Given the description of an element on the screen output the (x, y) to click on. 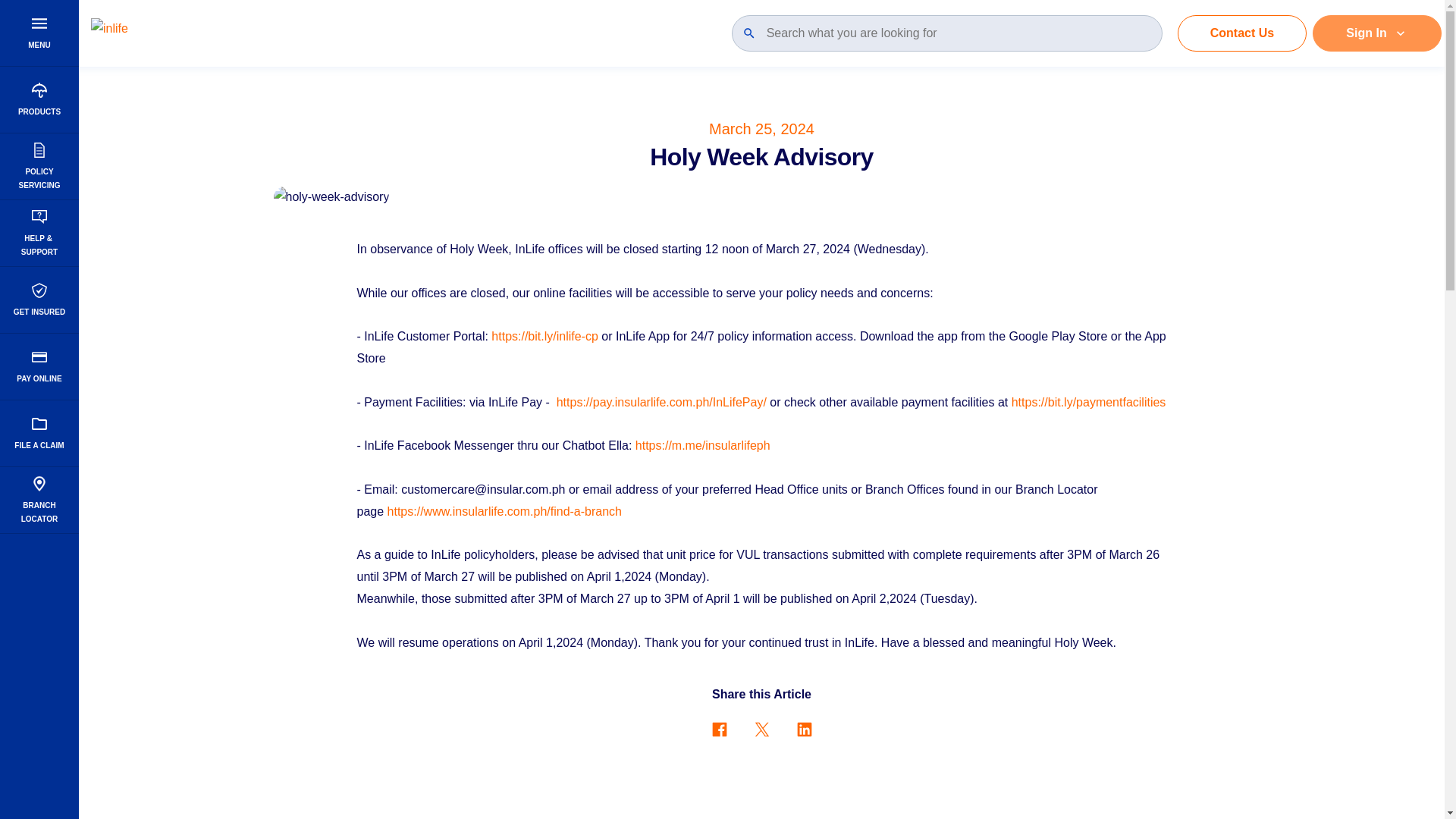
PAY ONLINE (39, 499)
MENU (39, 366)
Contact Us (39, 33)
FILE A CLAIM (39, 166)
GET INSURED (1241, 33)
Sign In (39, 433)
PRODUCTS (39, 299)
